Given the description of an element on the screen output the (x, y) to click on. 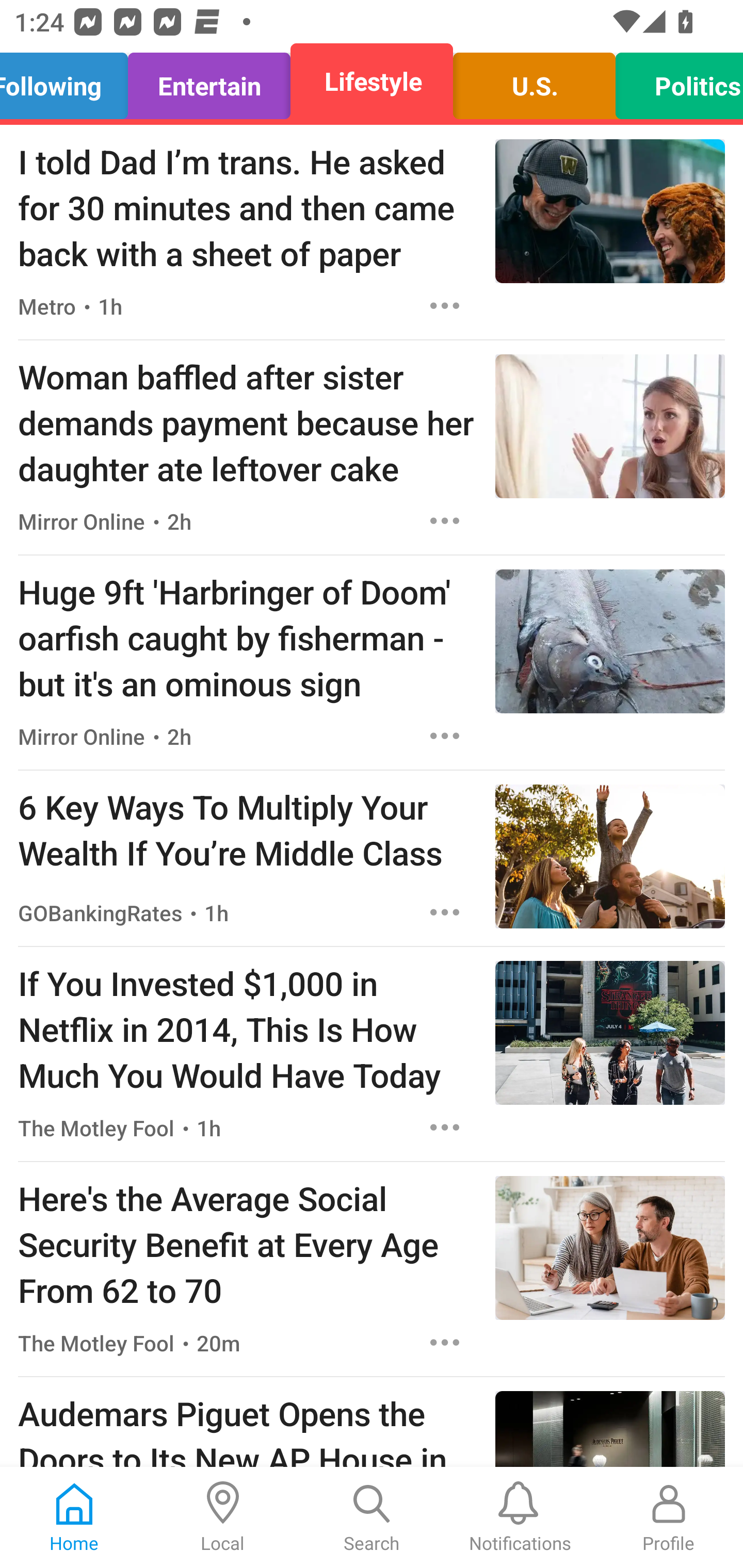
Entertain (209, 81)
Lifestyle (371, 81)
U.S. (534, 81)
Politics (673, 81)
Options (444, 305)
Options (444, 520)
Options (444, 736)
Options (444, 912)
Options (444, 1127)
Options (444, 1342)
Local (222, 1517)
Search (371, 1517)
Notifications (519, 1517)
Profile (668, 1517)
